Given the description of an element on the screen output the (x, y) to click on. 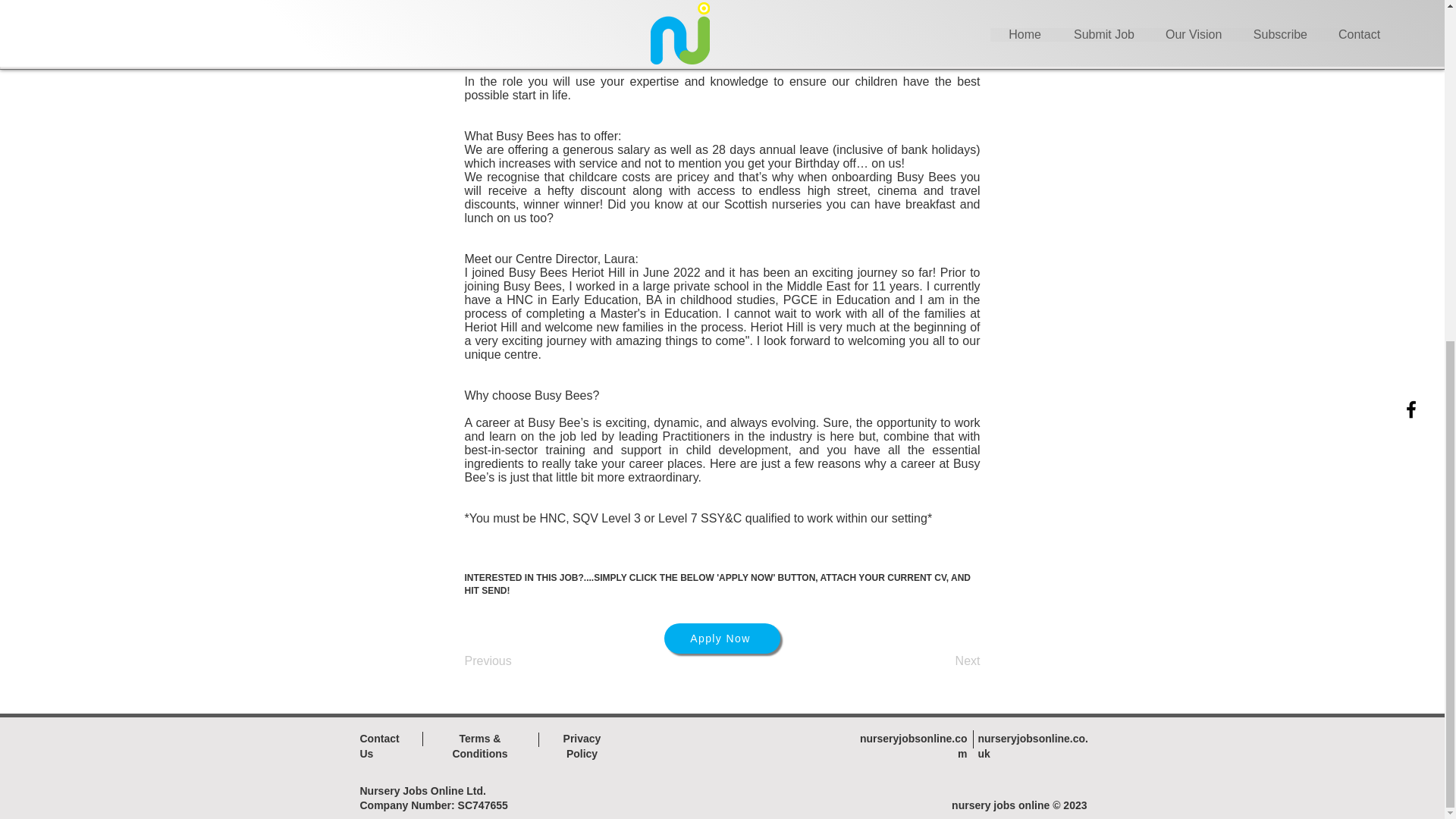
Privacy Policy (582, 746)
Apply Now (721, 638)
Next (941, 661)
Nursery Jobs Online Ltd. (421, 790)
Previous (514, 661)
Contact Us (378, 746)
nurseryjobsonline.co.uk (1032, 746)
nurseryjobsonline.com (914, 746)
Company Number: SC747655 (432, 805)
